Given the description of an element on the screen output the (x, y) to click on. 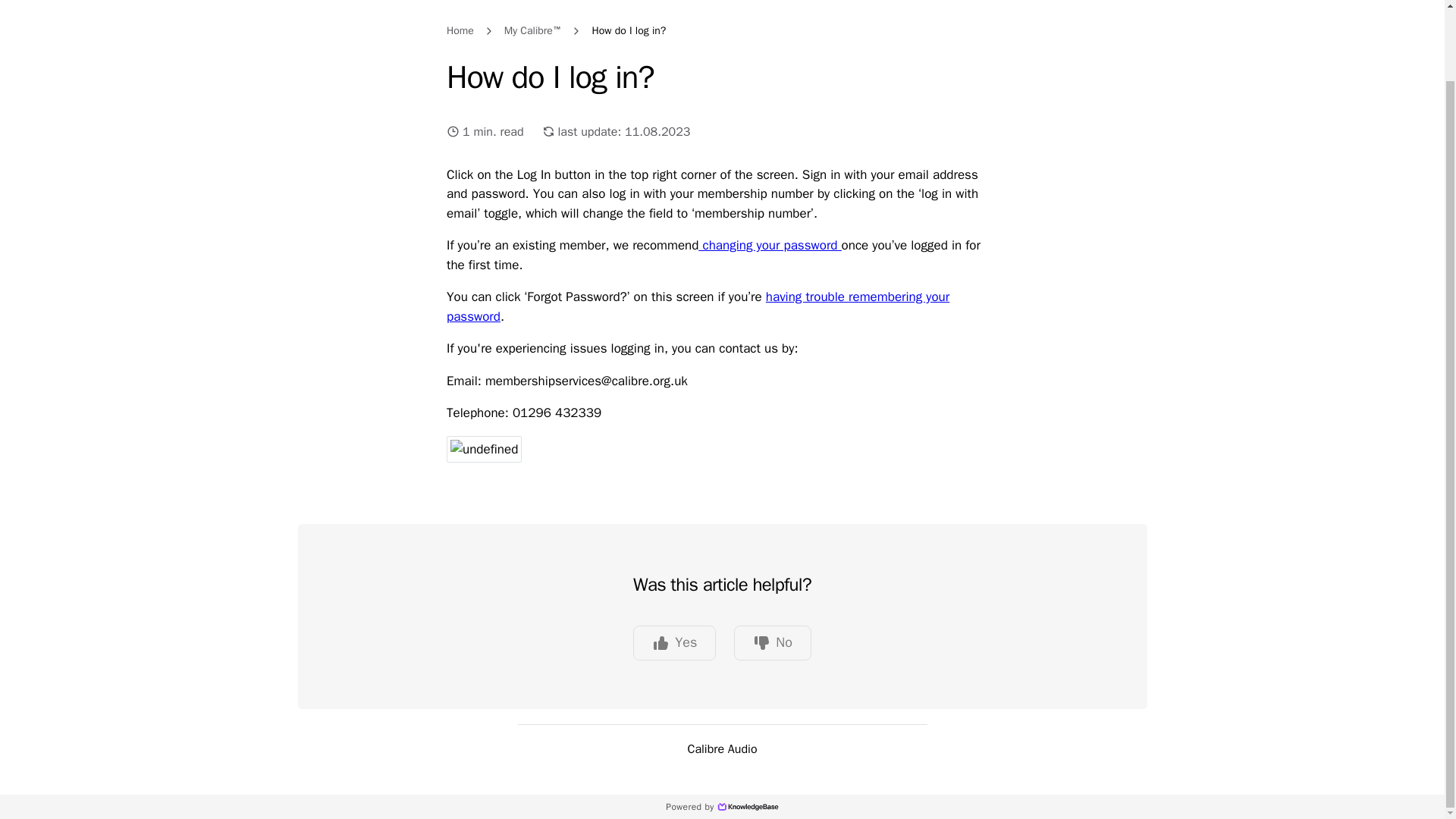
Calibre Audio (721, 741)
Yes (674, 642)
No (771, 642)
Home (460, 30)
changing your password (769, 245)
having trouble remembering your password (697, 306)
